Given the description of an element on the screen output the (x, y) to click on. 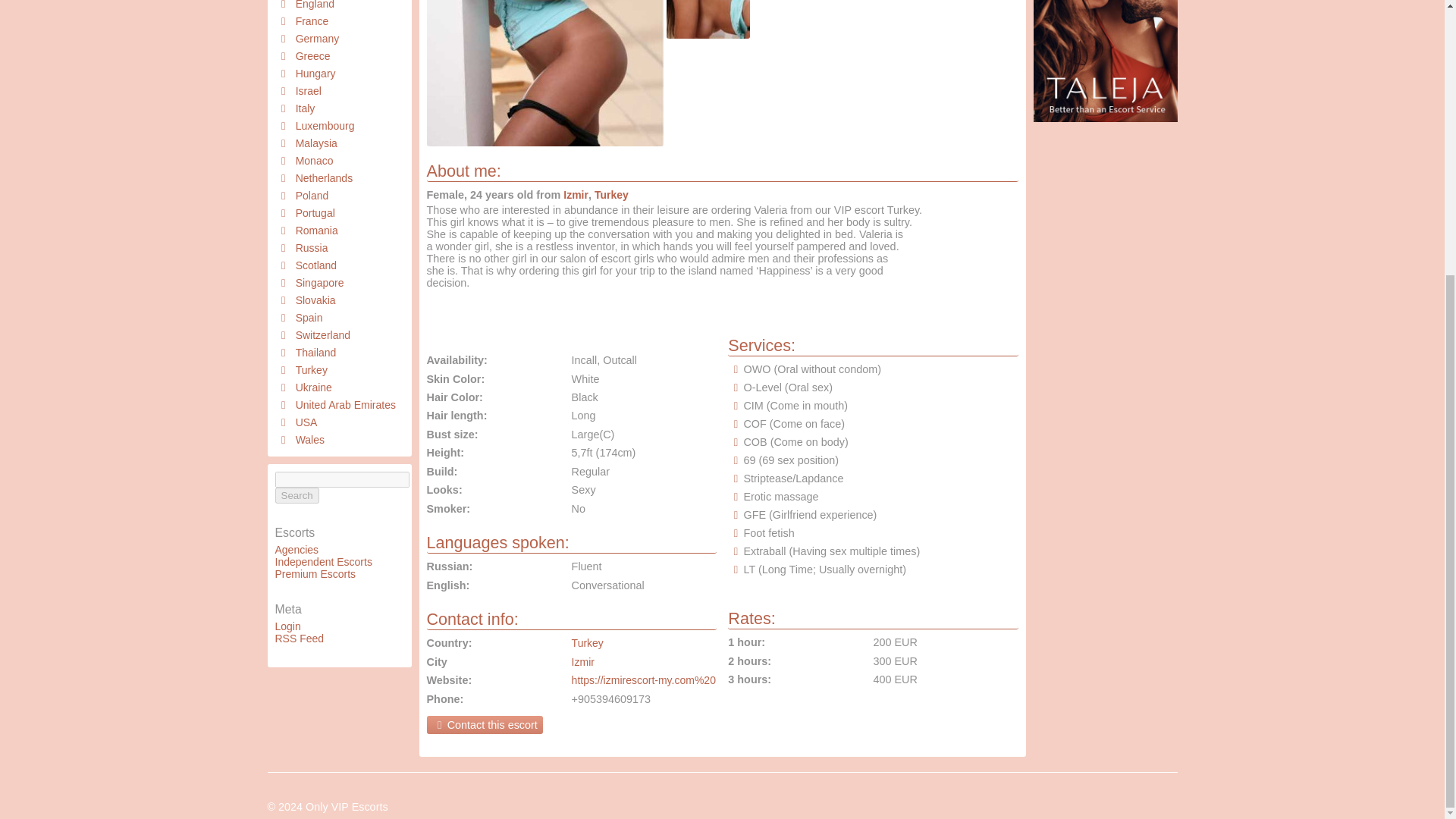
Search (296, 495)
